Given the description of an element on the screen output the (x, y) to click on. 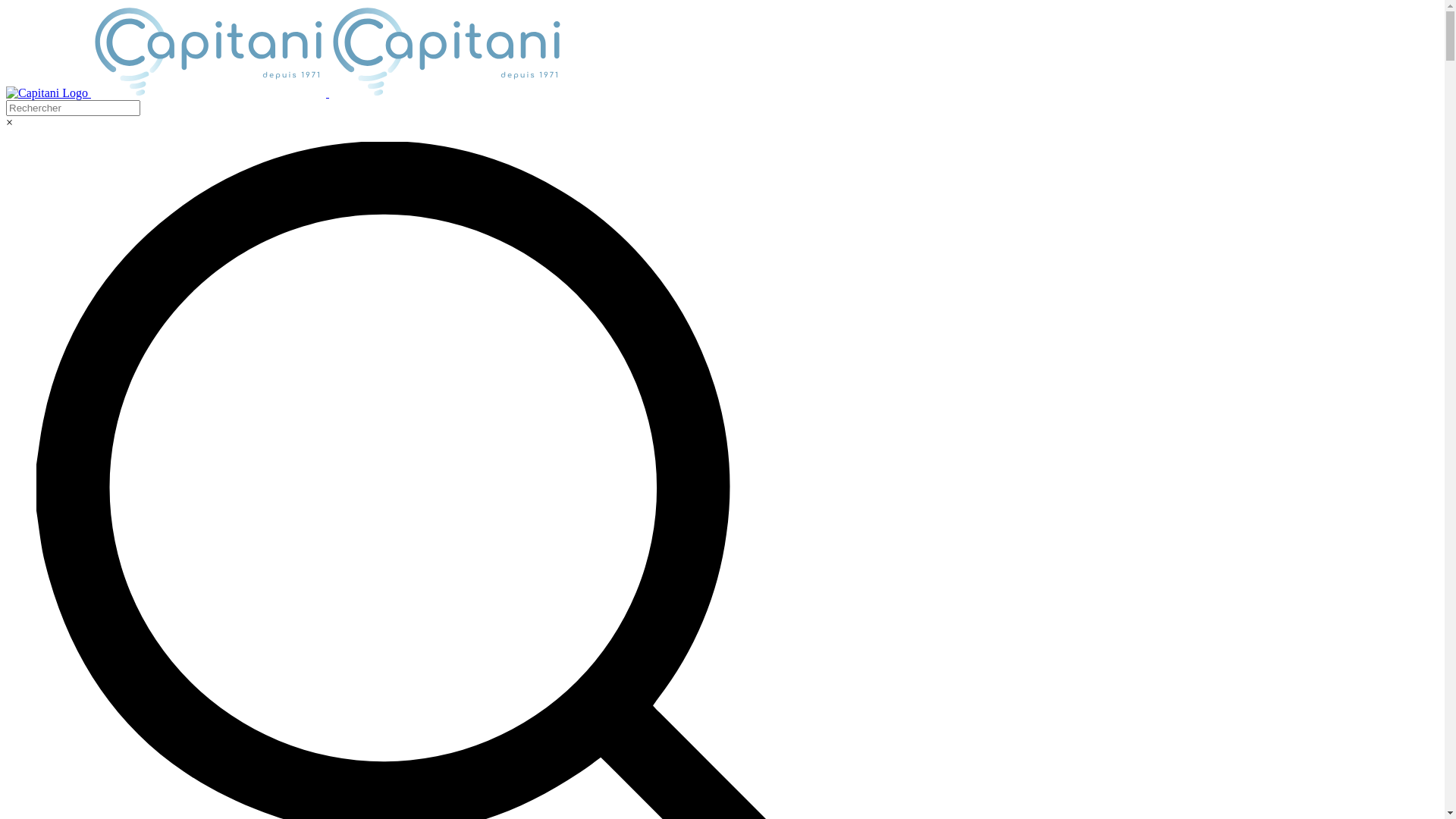
Accueil Element type: hover (285, 92)
